Given the description of an element on the screen output the (x, y) to click on. 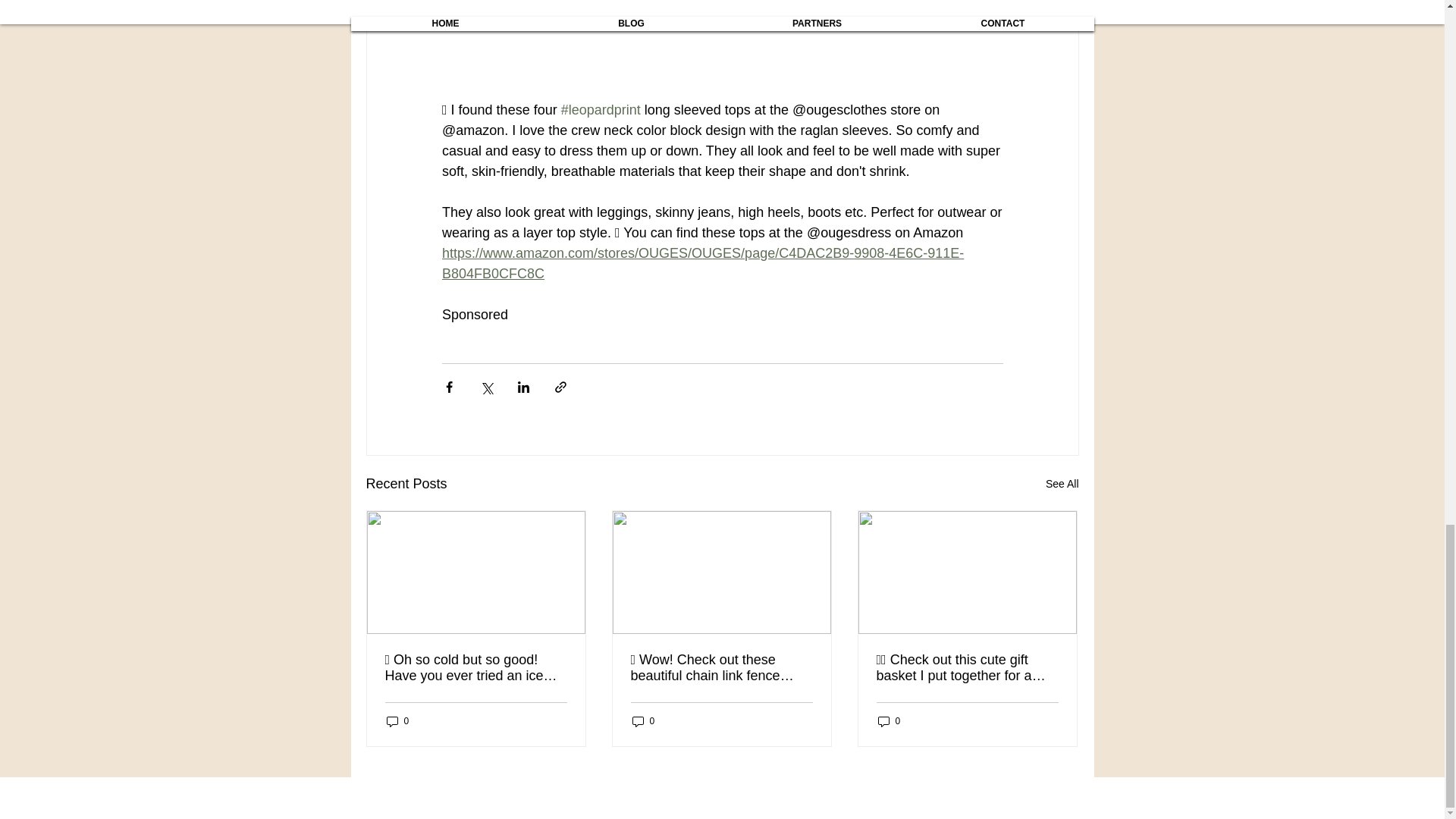
0 (397, 720)
See All (1061, 484)
0 (889, 720)
0 (643, 720)
